Given the description of an element on the screen output the (x, y) to click on. 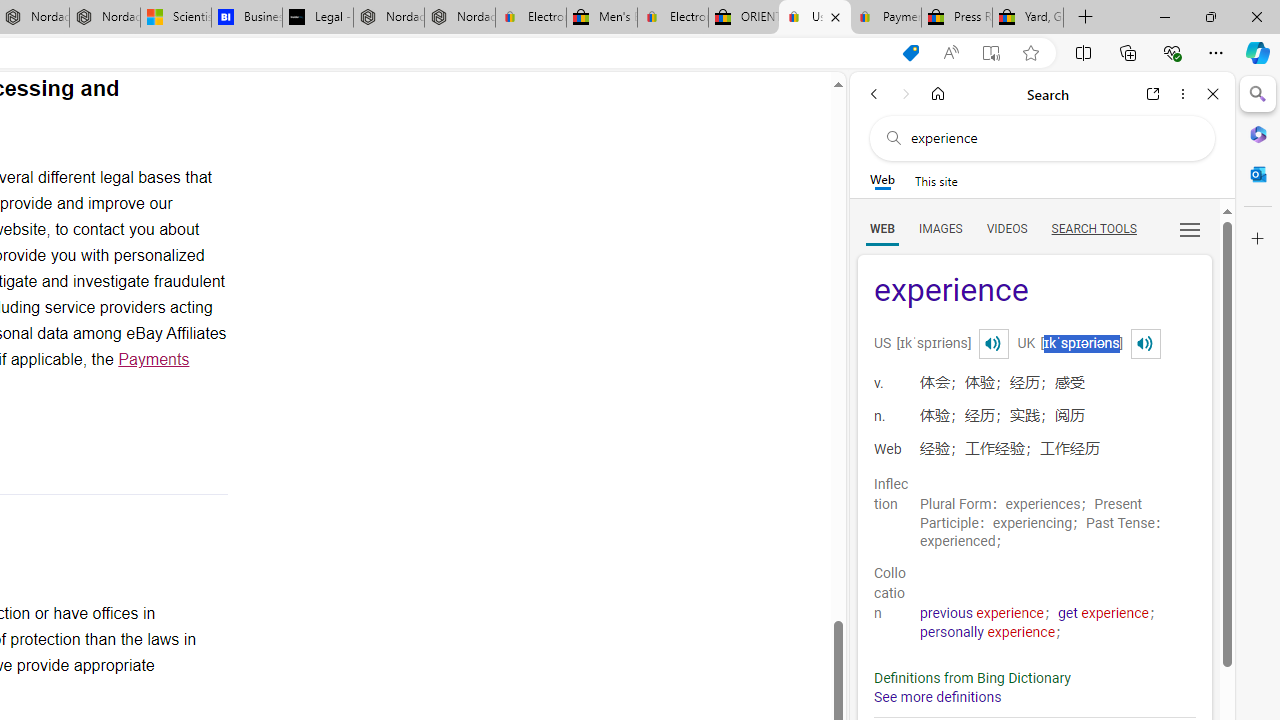
previous experience (982, 613)
experience (1034, 291)
See more definitions (938, 697)
